Given the description of an element on the screen output the (x, y) to click on. 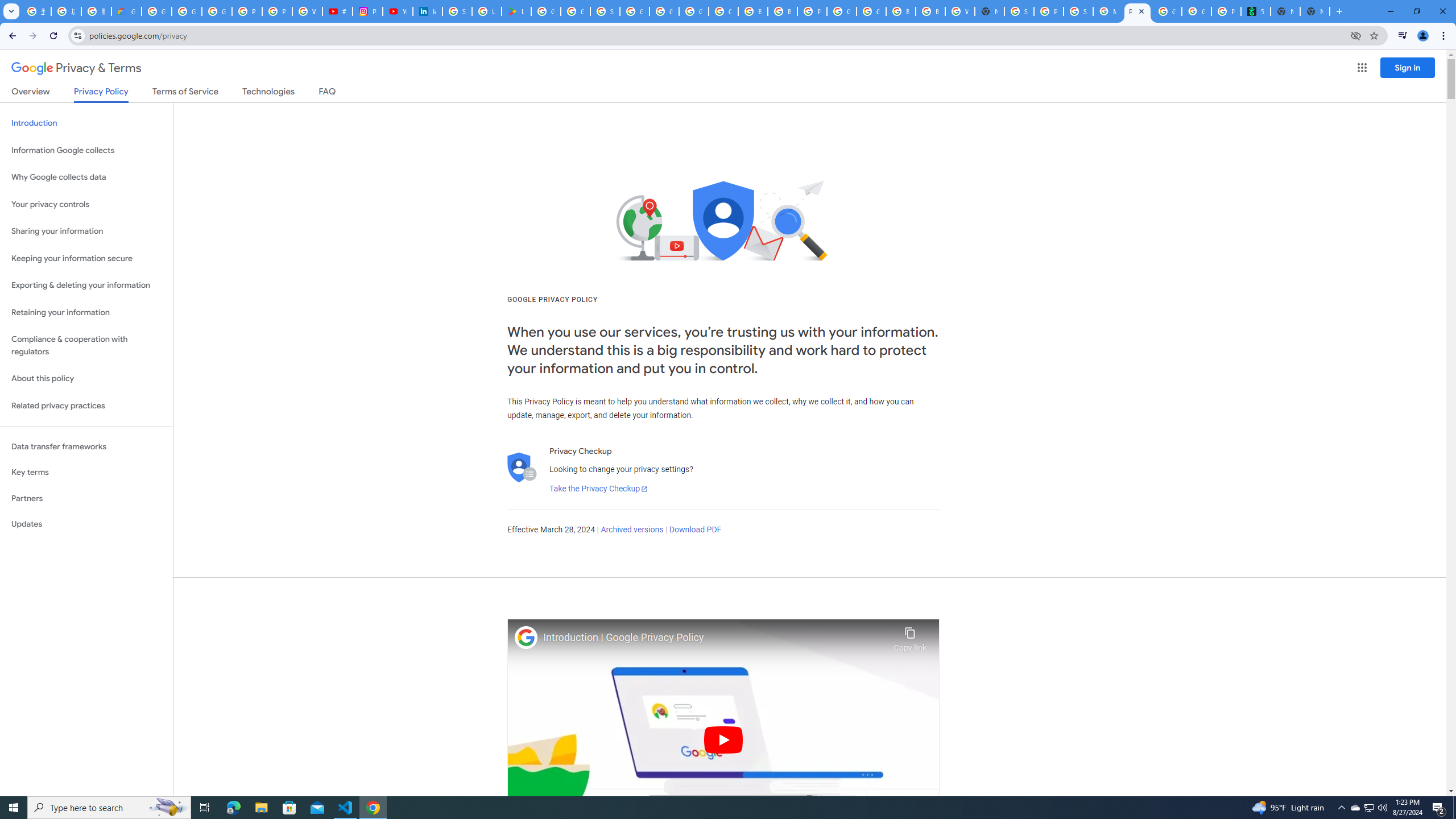
Take the Privacy Checkup (597, 488)
Browse Chrome as a guest - Computer - Google Chrome Help (900, 11)
Sign in - Google Accounts (1018, 11)
